Given the description of an element on the screen output the (x, y) to click on. 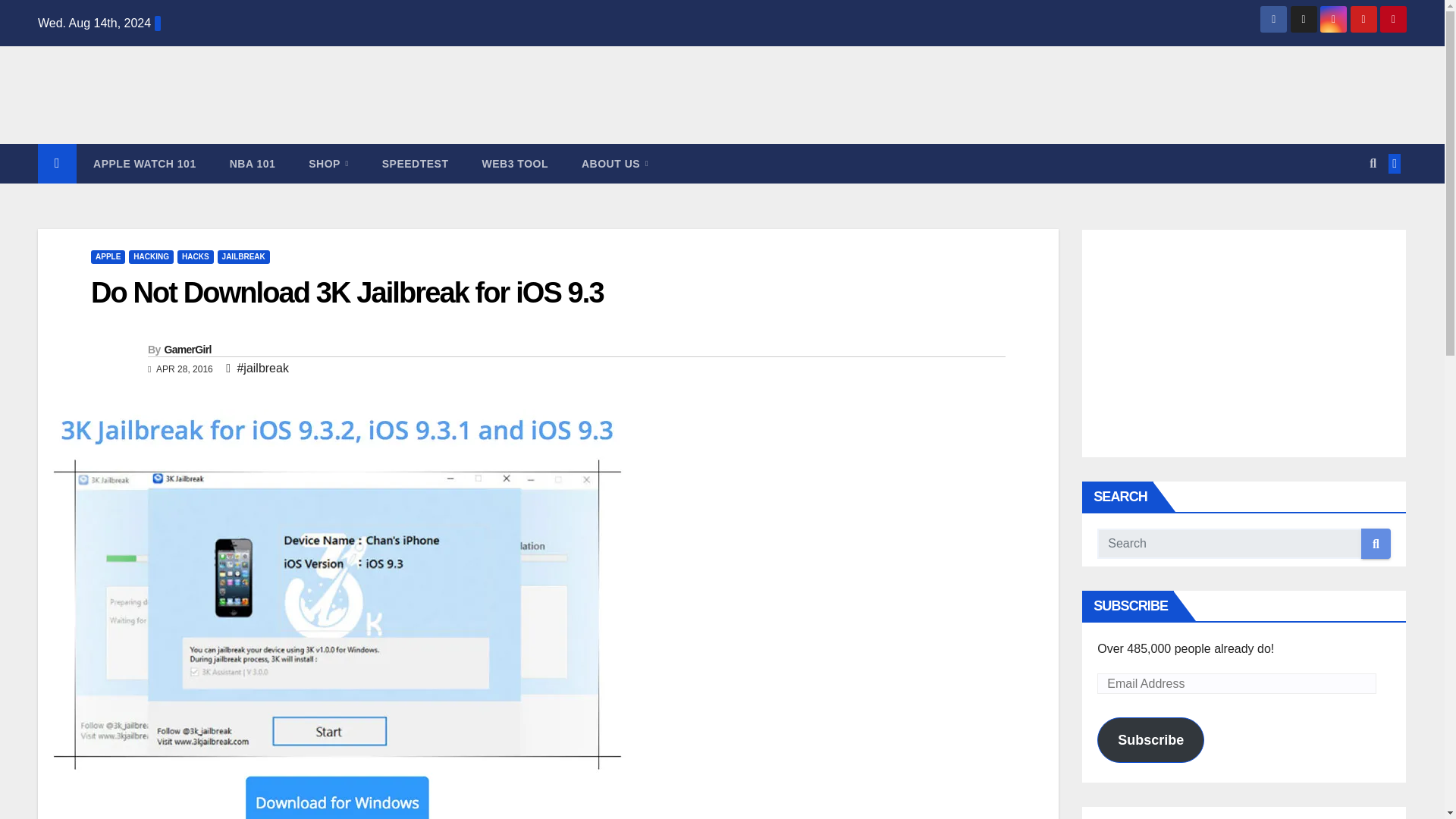
Speedtest (415, 163)
SPEEDTEST (415, 163)
Shop (328, 163)
About Us (614, 163)
NBA 101 (252, 163)
Web3 Tool (514, 163)
HACKS (195, 256)
APPLE (107, 256)
JAILBREAK (242, 256)
APPLE WATCH 101 (144, 163)
